Given the description of an element on the screen output the (x, y) to click on. 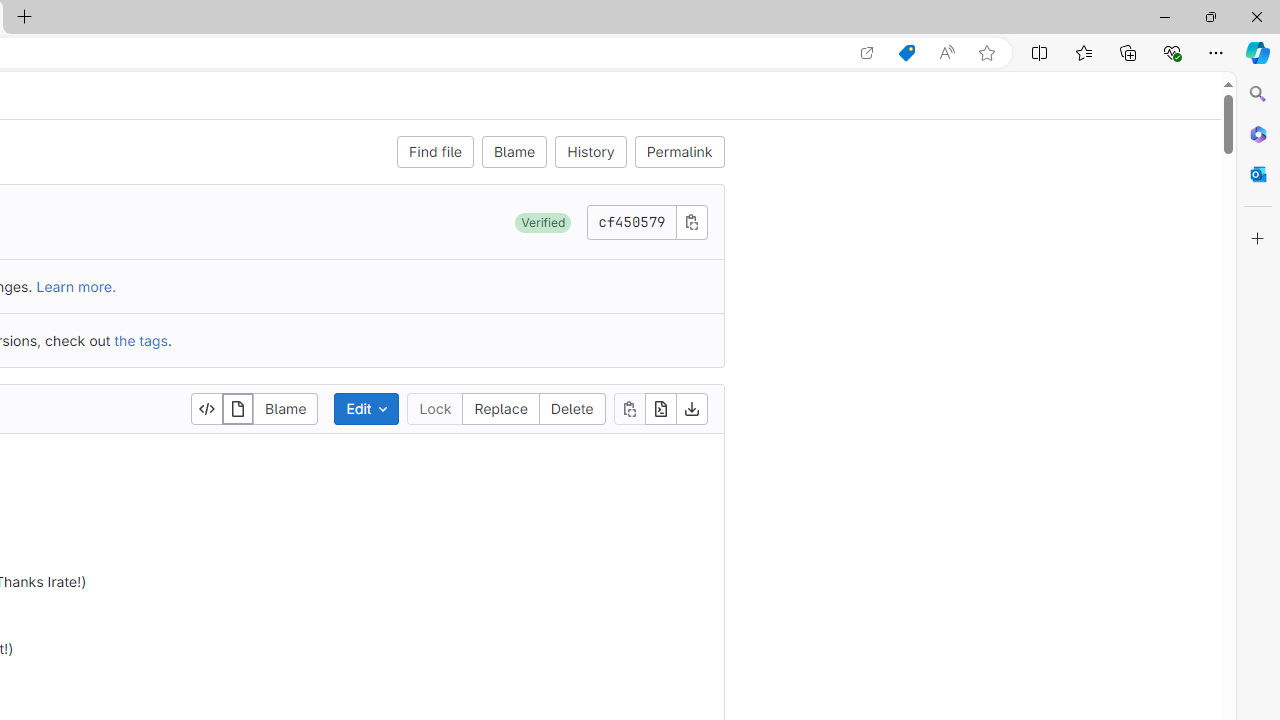
Shopping in Microsoft Edge (906, 53)
Open raw (660, 408)
Copy commit SHA (690, 221)
Display rendered file (237, 408)
Class: s16 gl-icon gl-button-icon  (691, 221)
Blame (514, 151)
Permalink (678, 151)
Find file (434, 151)
History (591, 151)
Edit (366, 408)
the tags (140, 340)
